Given the description of an element on the screen output the (x, y) to click on. 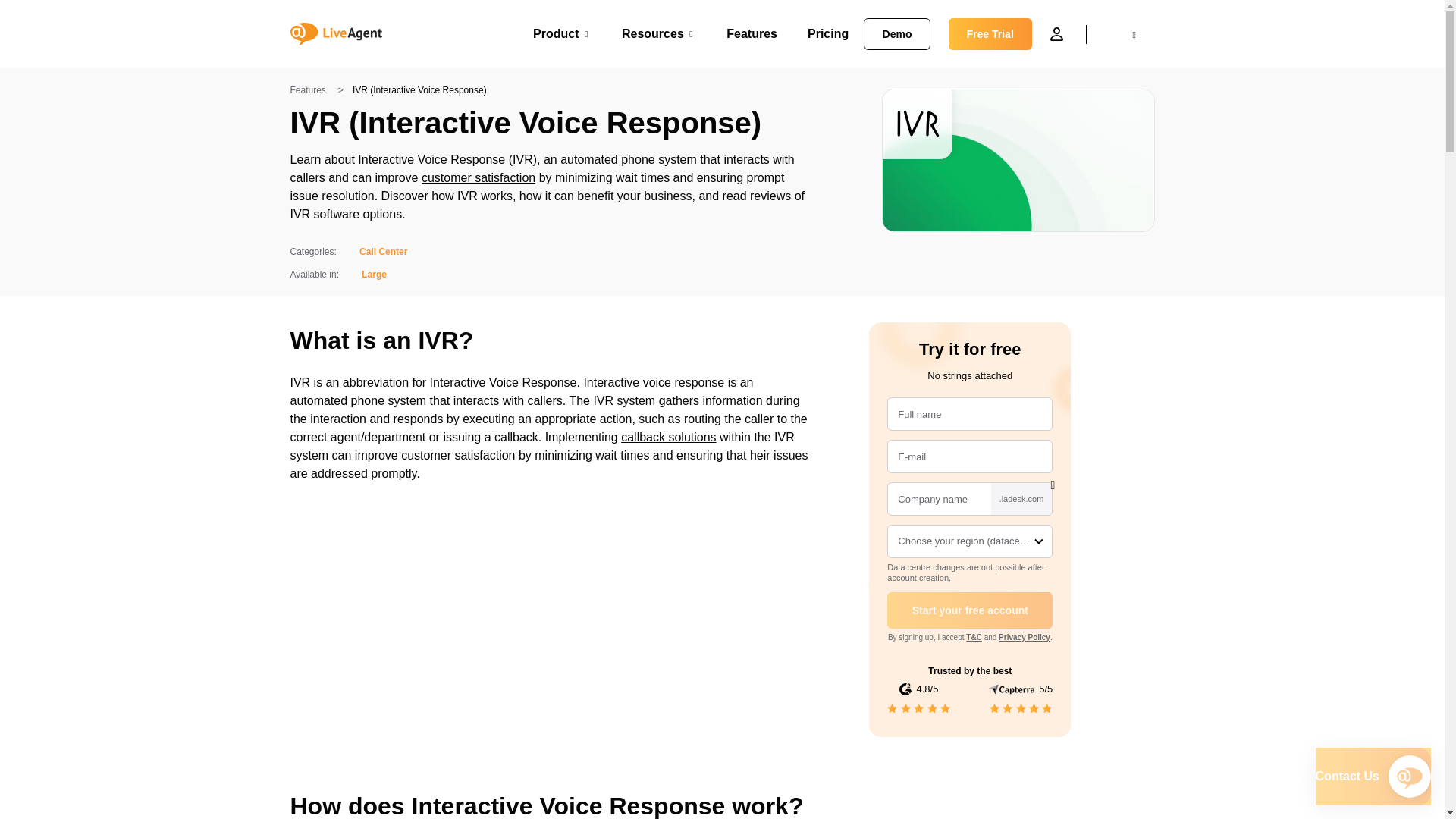
Resources (658, 33)
Product (561, 33)
LiveAgent (341, 33)
